Given the description of an element on the screen output the (x, y) to click on. 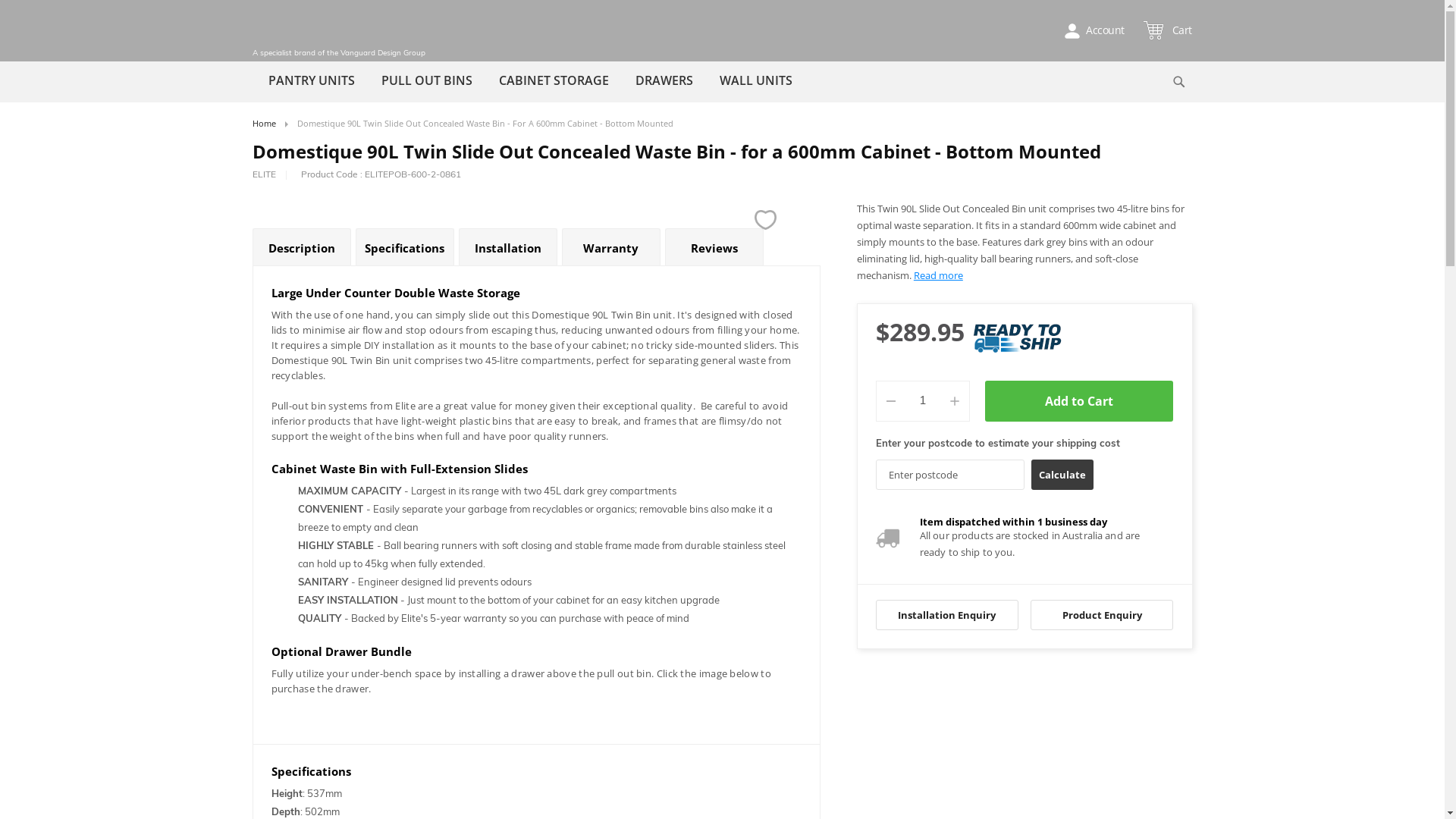
Specifications Element type: text (403, 247)
Skip to the beginning of the images gallery Element type: text (251, 200)
Cart Element type: text (1169, 30)
Skip to the end of the images gallery Element type: text (251, 200)
Account Element type: text (1089, 29)
Calculate Element type: text (1062, 474)
Installation Element type: text (507, 247)
Postcode Element type: hover (949, 474)
Add to Cart Element type: text (1079, 400)
Read more Element type: text (938, 275)
Favourite Favourite Element type: text (765, 219)
Search Element type: text (1178, 81)
PANTRY UNITS Element type: text (310, 80)
DRAWERS Element type: text (663, 80)
Warranty Element type: text (610, 247)
Qty Element type: hover (922, 400)
Home Element type: text (263, 122)
WALL UNITS Element type: text (755, 80)
Installation Enquiry Element type: text (946, 614)
Description Element type: text (300, 247)
PULL OUT BINS Element type: text (426, 80)
CABINET STORAGE Element type: text (552, 80)
Product Enquiry Element type: text (1101, 614)
Reviews Element type: text (713, 247)
